Given the description of an element on the screen output the (x, y) to click on. 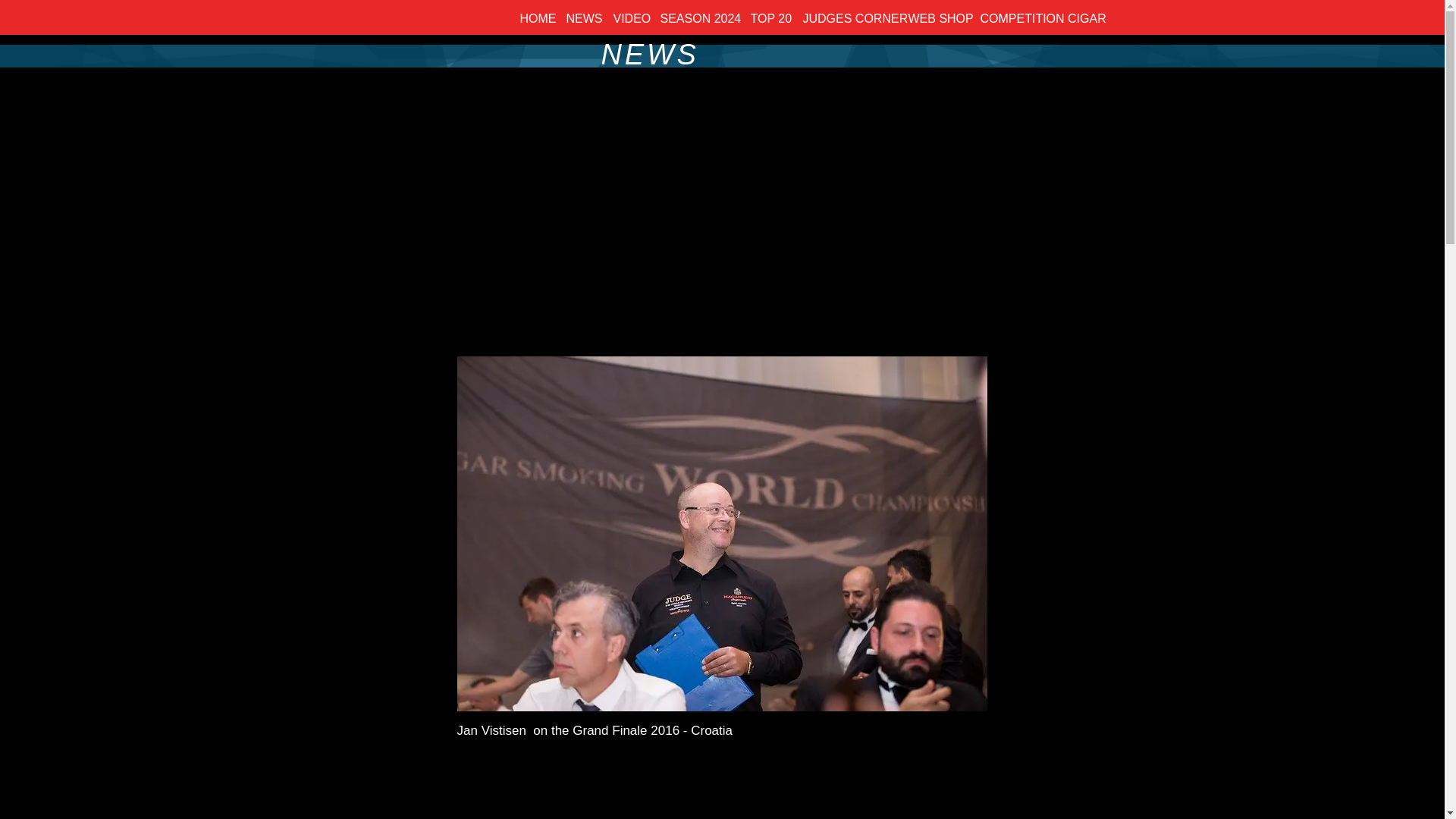
VIDEO (628, 18)
TOP 20 (768, 18)
JUDGES CORNER (846, 18)
WEB SHOP (936, 18)
COMPETITION CIGAR (1032, 18)
NEWS (581, 18)
SEASON 2024 (697, 18)
HOME (535, 18)
